Given the description of an element on the screen output the (x, y) to click on. 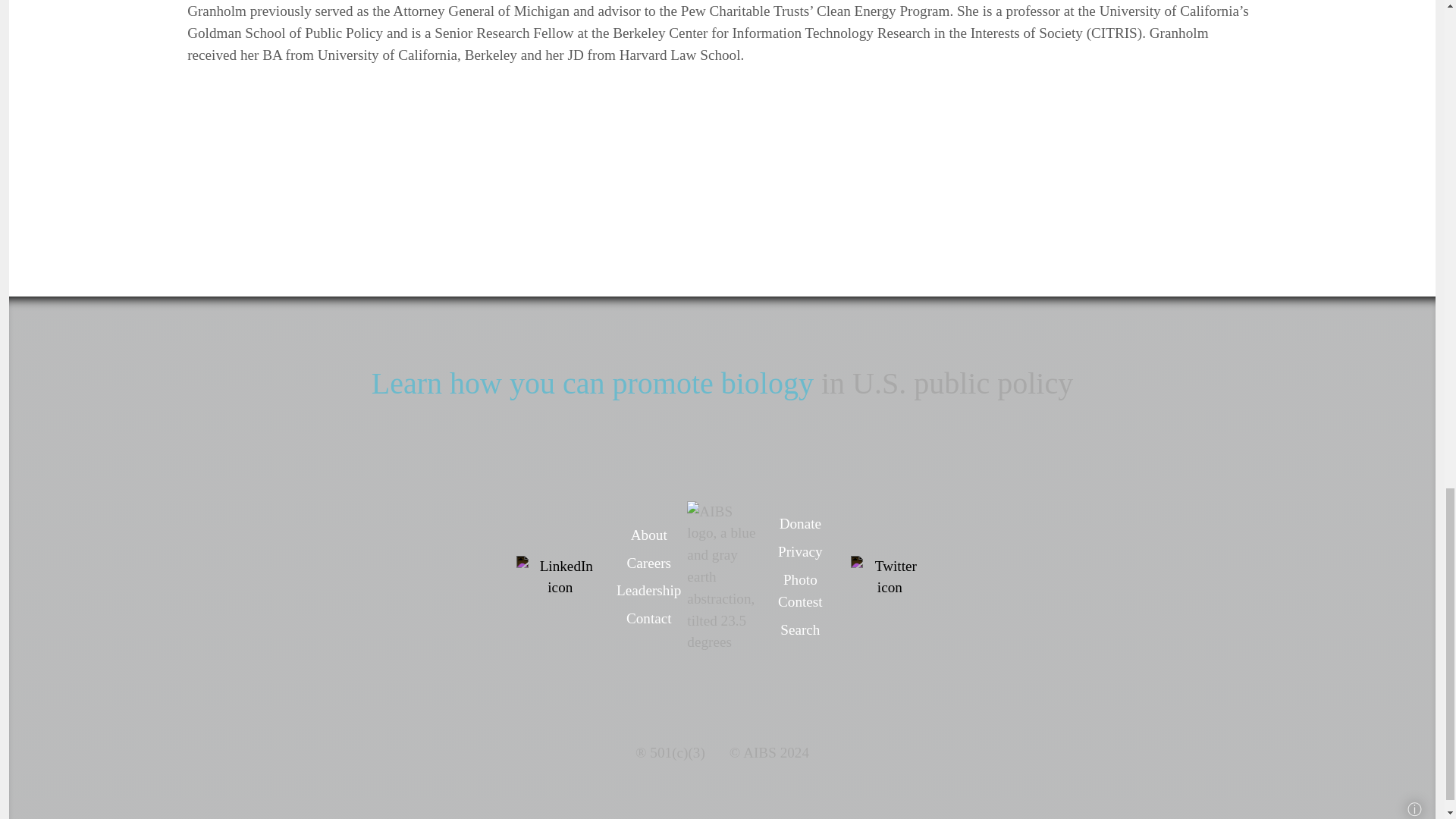
Search (799, 629)
Careers (648, 562)
Privacy (799, 551)
Learn how you can promote biology (592, 383)
About (648, 534)
Photo Contest (799, 590)
Leadership (648, 590)
Donate (799, 523)
Contact (648, 618)
